Given the description of an element on the screen output the (x, y) to click on. 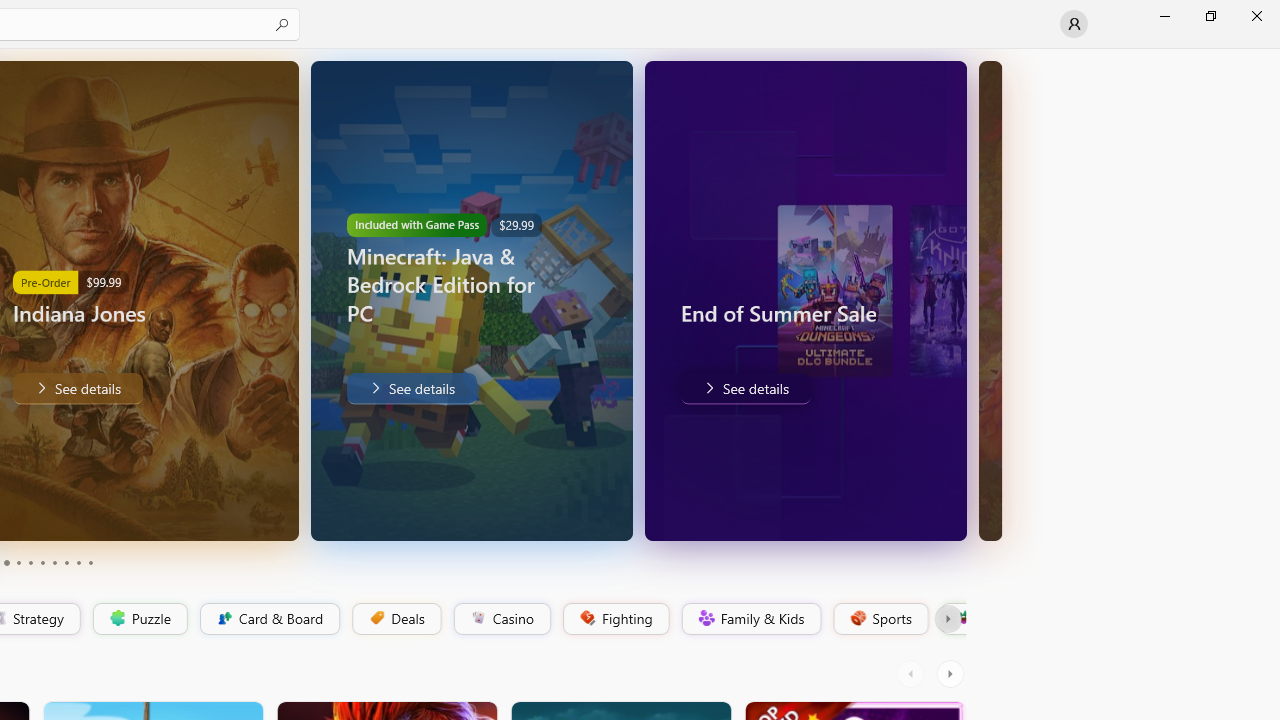
Page 6 (41, 562)
Page 3 (5, 562)
Page 10 (90, 562)
Casino (501, 619)
AutomationID: RightScrollButton (952, 673)
End of Summer Sale. Save up to 80%.  . See details (744, 387)
Card & Board (268, 619)
Page 9 (77, 562)
Page 4 (17, 562)
AutomationID: Image (989, 300)
Page 8 (65, 562)
